Given the description of an element on the screen output the (x, y) to click on. 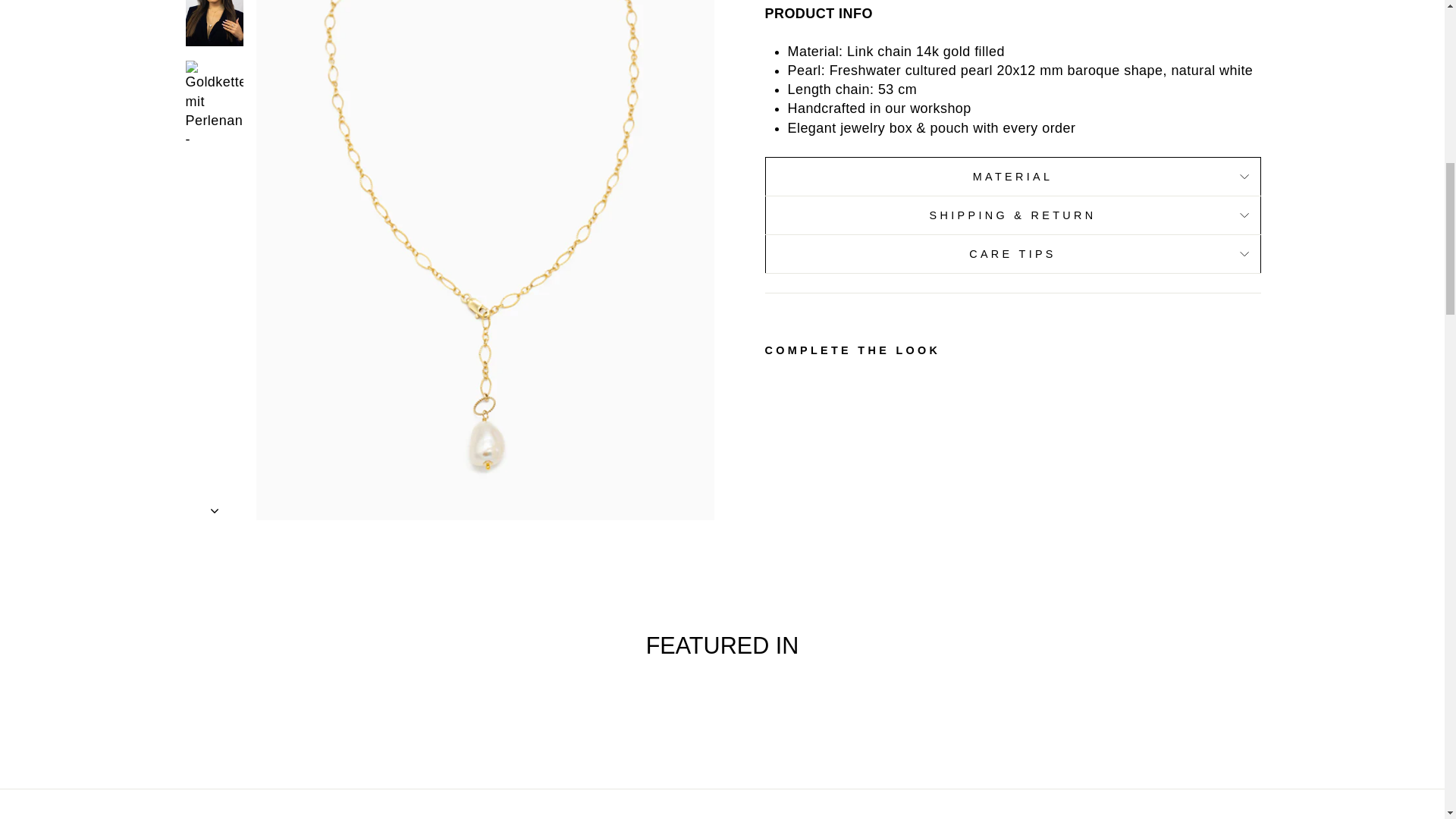
icon-chevron (214, 7)
